Given the description of an element on the screen output the (x, y) to click on. 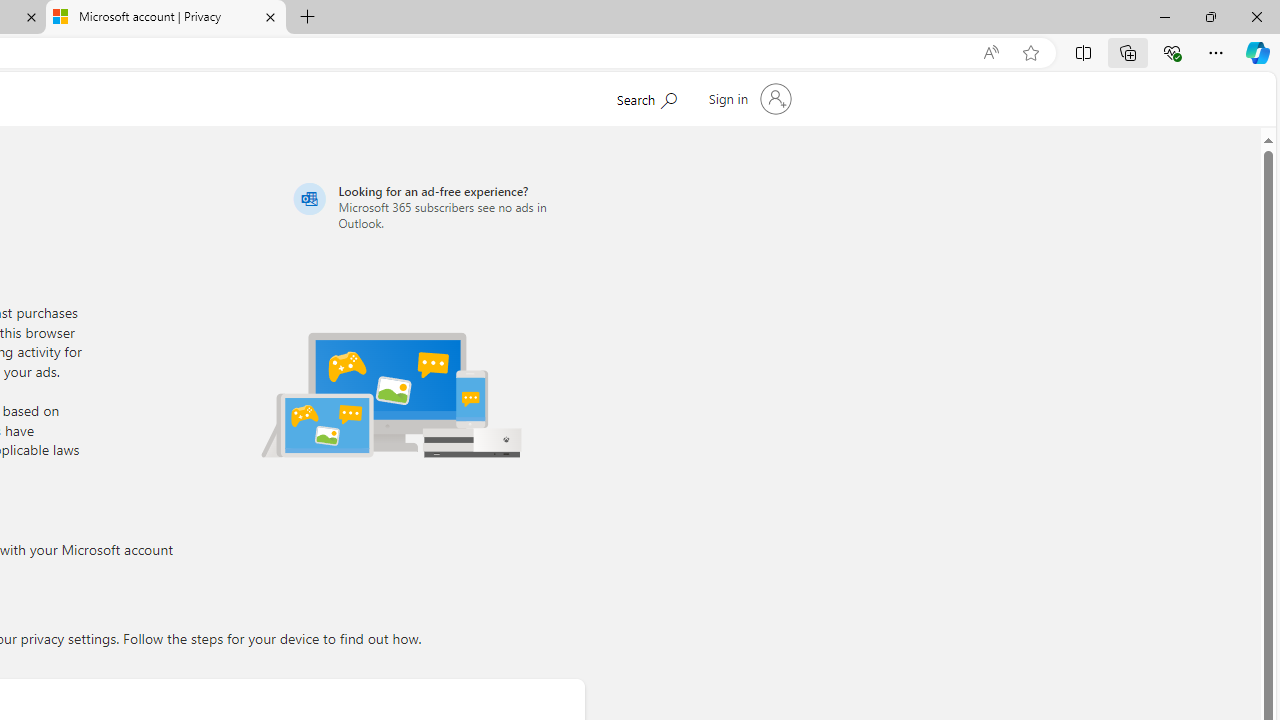
Search Microsoft.com (646, 97)
Illustration of multiple devices (391, 394)
Sign in to your account (748, 98)
